Given the description of an element on the screen output the (x, y) to click on. 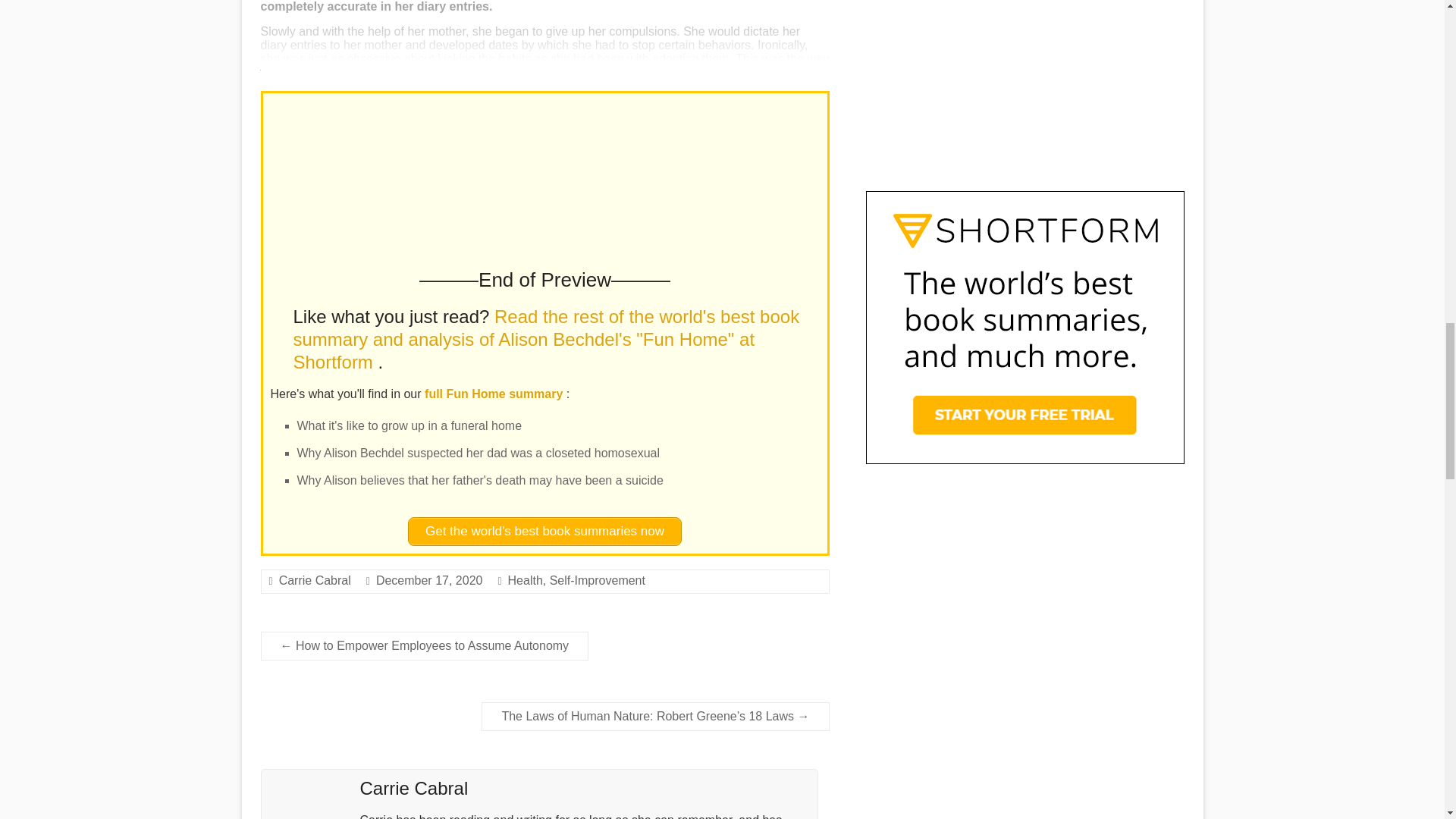
December 17, 2020 (429, 580)
Health (525, 580)
Carrie Cabral (314, 580)
10:01 am (429, 580)
Self-Improvement (597, 580)
full Fun Home summary (495, 393)
Get the world's best book summaries now (544, 531)
